Given the description of an element on the screen output the (x, y) to click on. 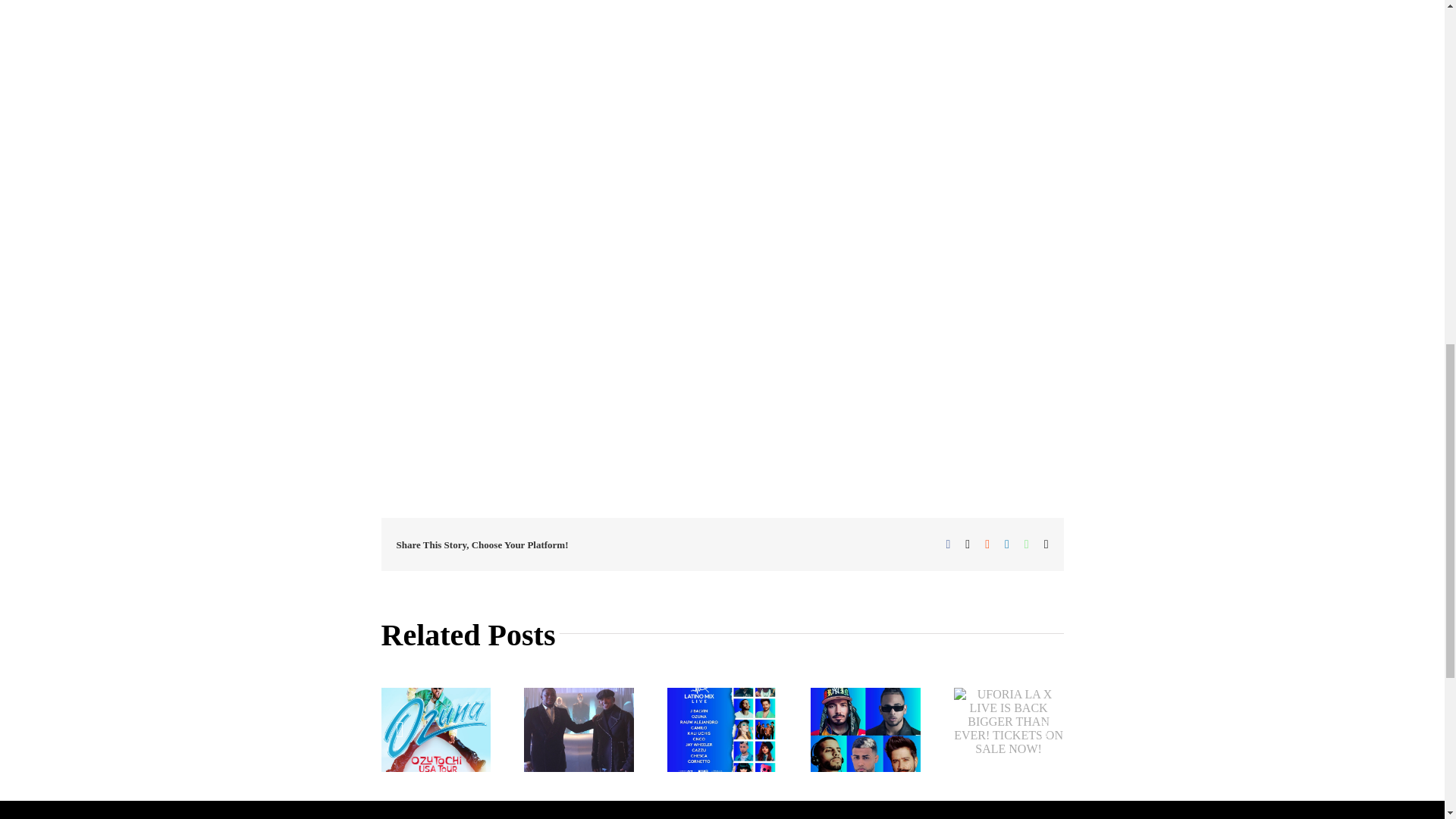
Juan Gabriel (463, 366)
Embrace (526, 4)
Joan Sebastian (576, 366)
